Given the description of an element on the screen output the (x, y) to click on. 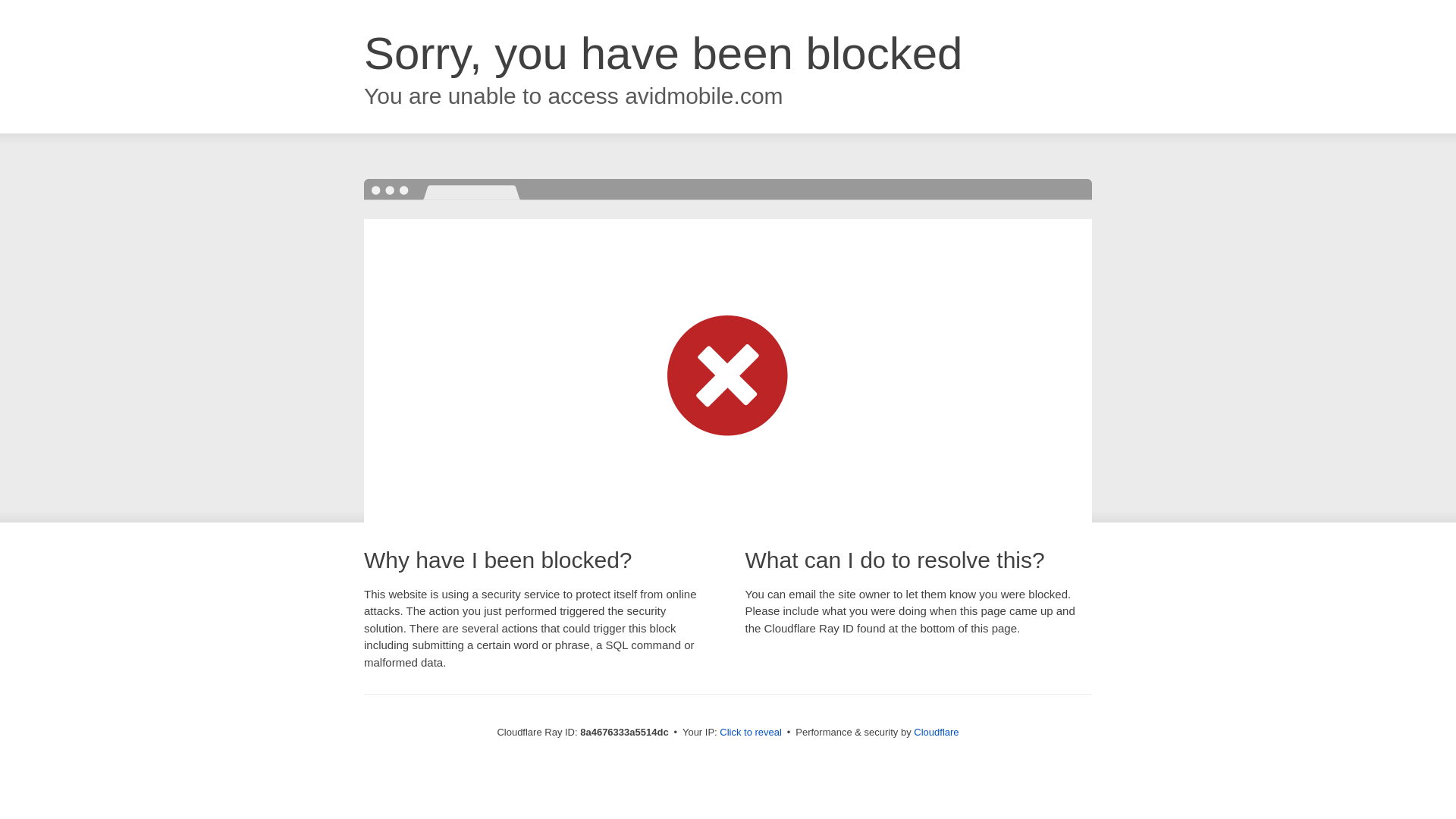
Cloudflare (936, 731)
Click to reveal (750, 732)
